Given the description of an element on the screen output the (x, y) to click on. 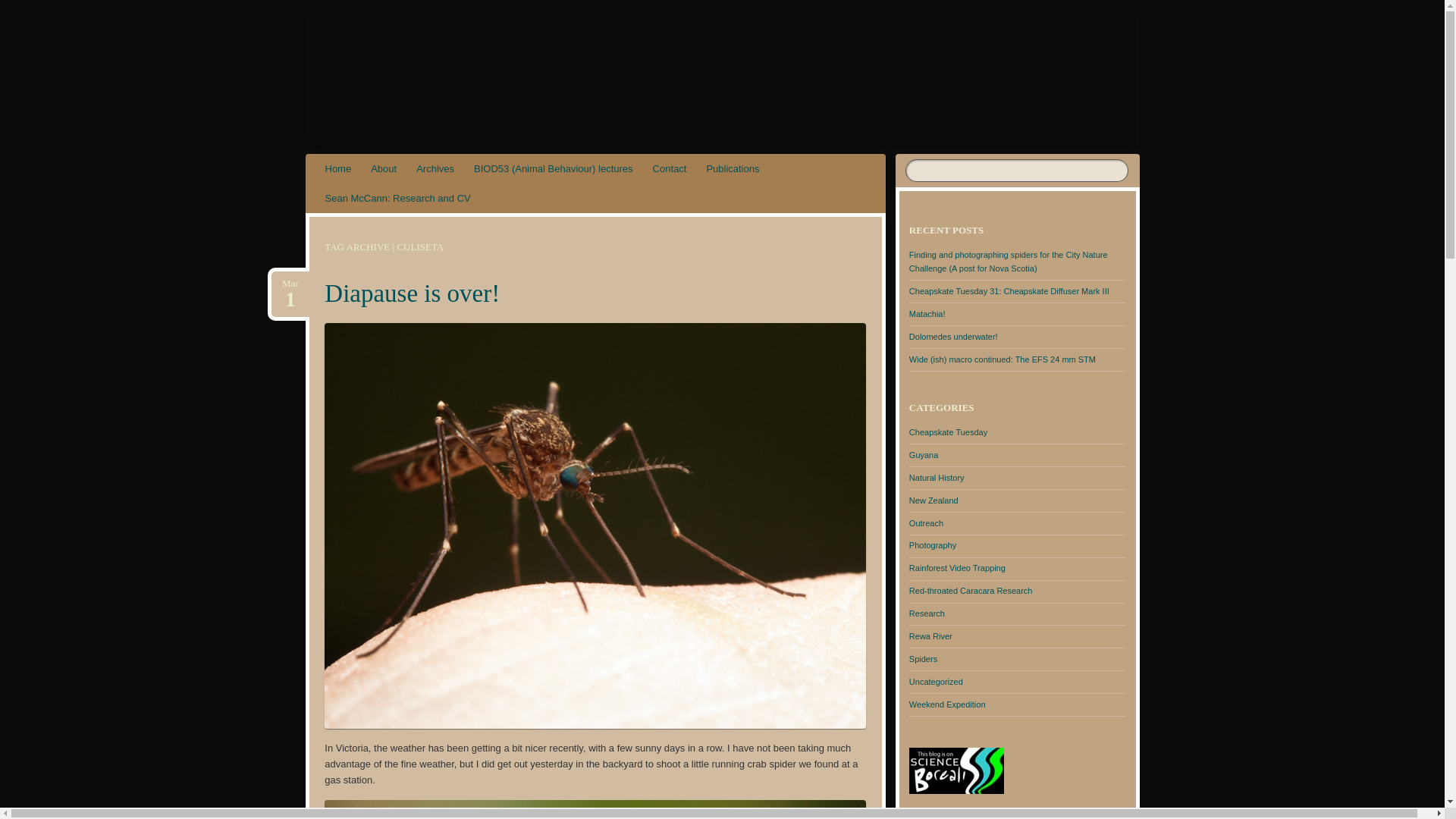
Cheapskate Tuesday 31: Cheapskate Diffuser Mark III (1008, 290)
Diapause is over! (411, 293)
Publications (731, 168)
Home (338, 168)
Archives (435, 168)
Red-throated Caracara Research (970, 590)
Sean McCann: Research and CV (397, 197)
Ibycter (403, 60)
Rewa River (930, 635)
Search (21, 7)
